Given the description of an element on the screen output the (x, y) to click on. 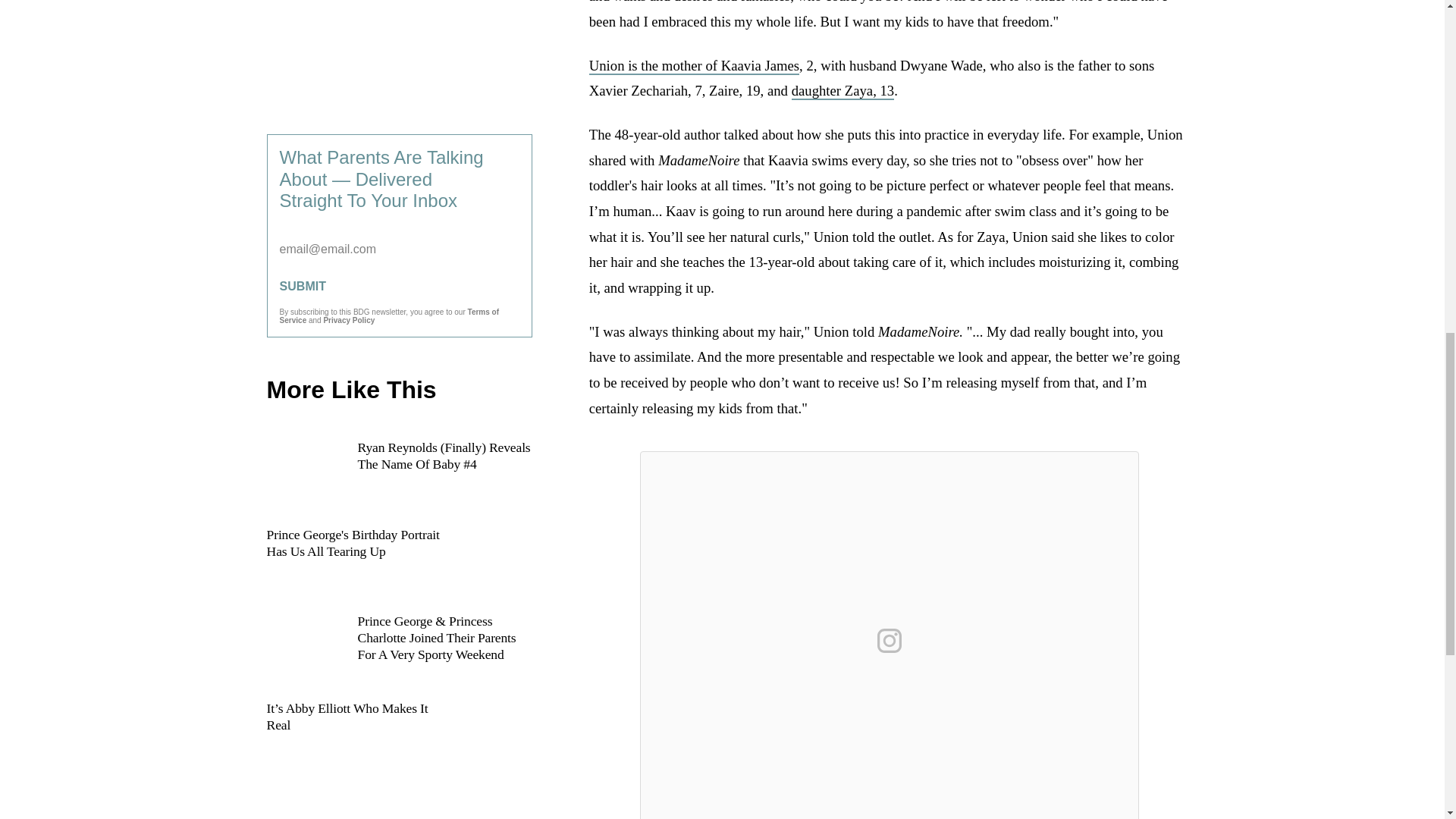
Prince George's Birthday Portrait Has Us All Tearing Up (399, 561)
Union is the mother of Kaavia James (694, 66)
daughter Zaya, 13 (843, 90)
View on Instagram (888, 640)
Terms of Service (389, 315)
Privacy Policy (348, 320)
SUBMIT (399, 286)
